Given the description of an element on the screen output the (x, y) to click on. 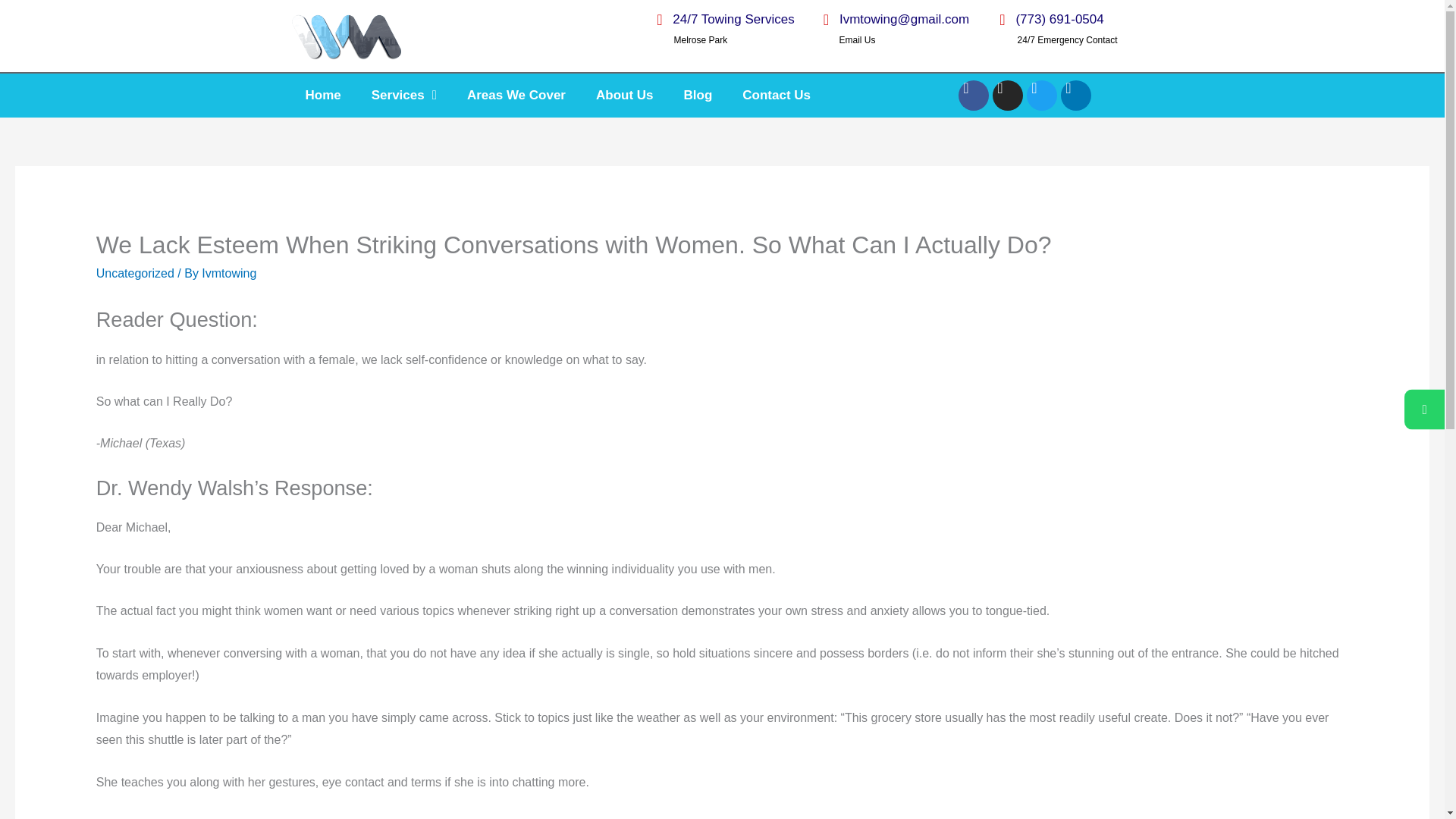
Areas We Cover (515, 95)
Blog (698, 95)
Home (322, 95)
Contact Us (775, 95)
Services (403, 95)
View all posts by Ivmtowing (229, 273)
About Us (624, 95)
ivm final logo r (346, 35)
